Given the description of an element on the screen output the (x, y) to click on. 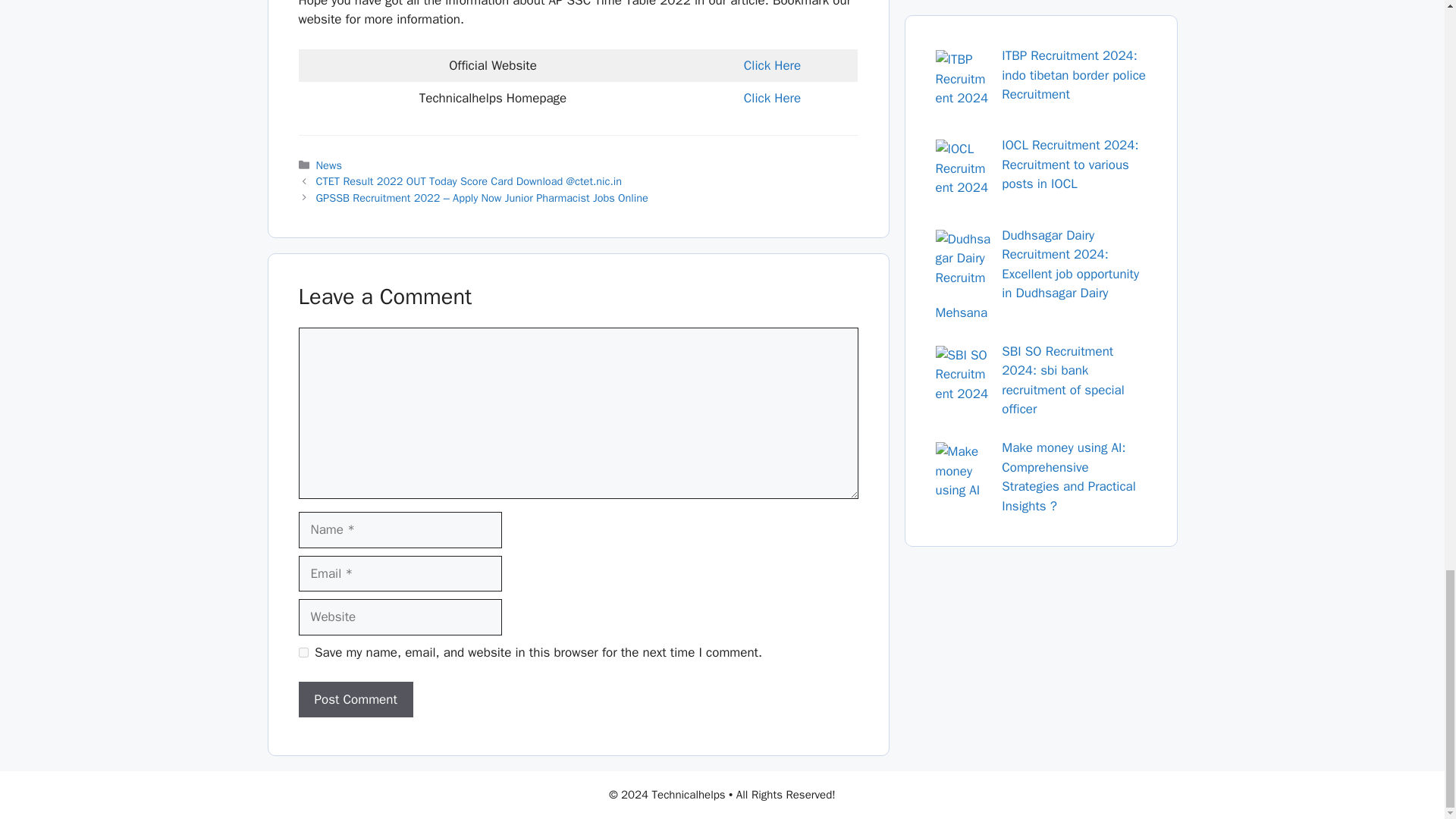
yes (303, 652)
Post Comment (355, 699)
Post Comment (355, 699)
Click Here (772, 98)
News (328, 164)
Click Here (772, 65)
